Given the description of an element on the screen output the (x, y) to click on. 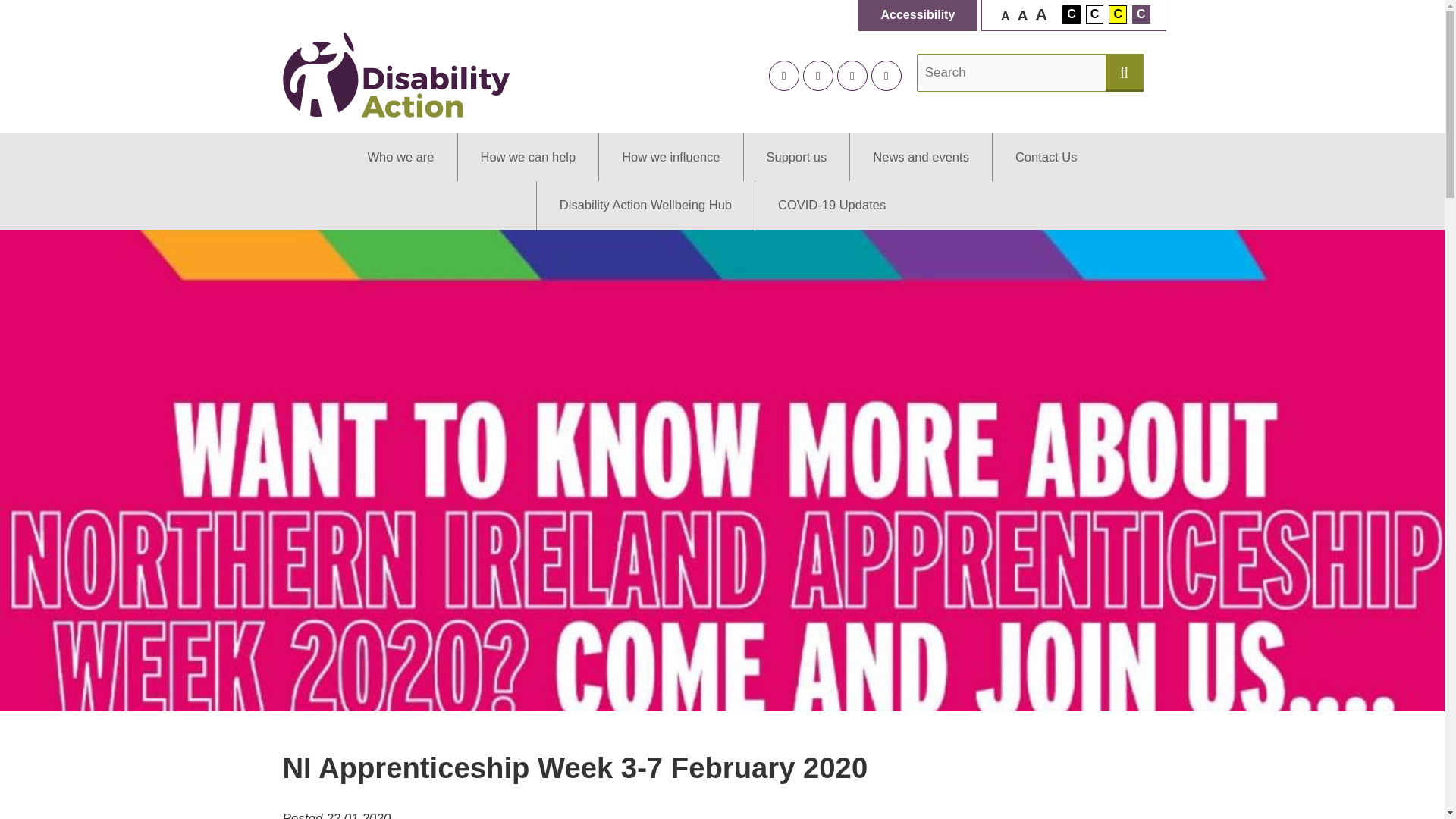
C (1141, 13)
Twitter (783, 75)
Who we are (400, 156)
Facebook (817, 75)
C (1117, 13)
C (1071, 13)
News and events drop down menu (919, 156)
Accessibility (918, 15)
Disability Action Northern Ireland (395, 74)
LinkedIn (852, 75)
Search (1011, 72)
How we influence drop down menu (670, 156)
Who we are drop down menu (400, 156)
C (1094, 13)
YouTube (885, 75)
